Given the description of an element on the screen output the (x, y) to click on. 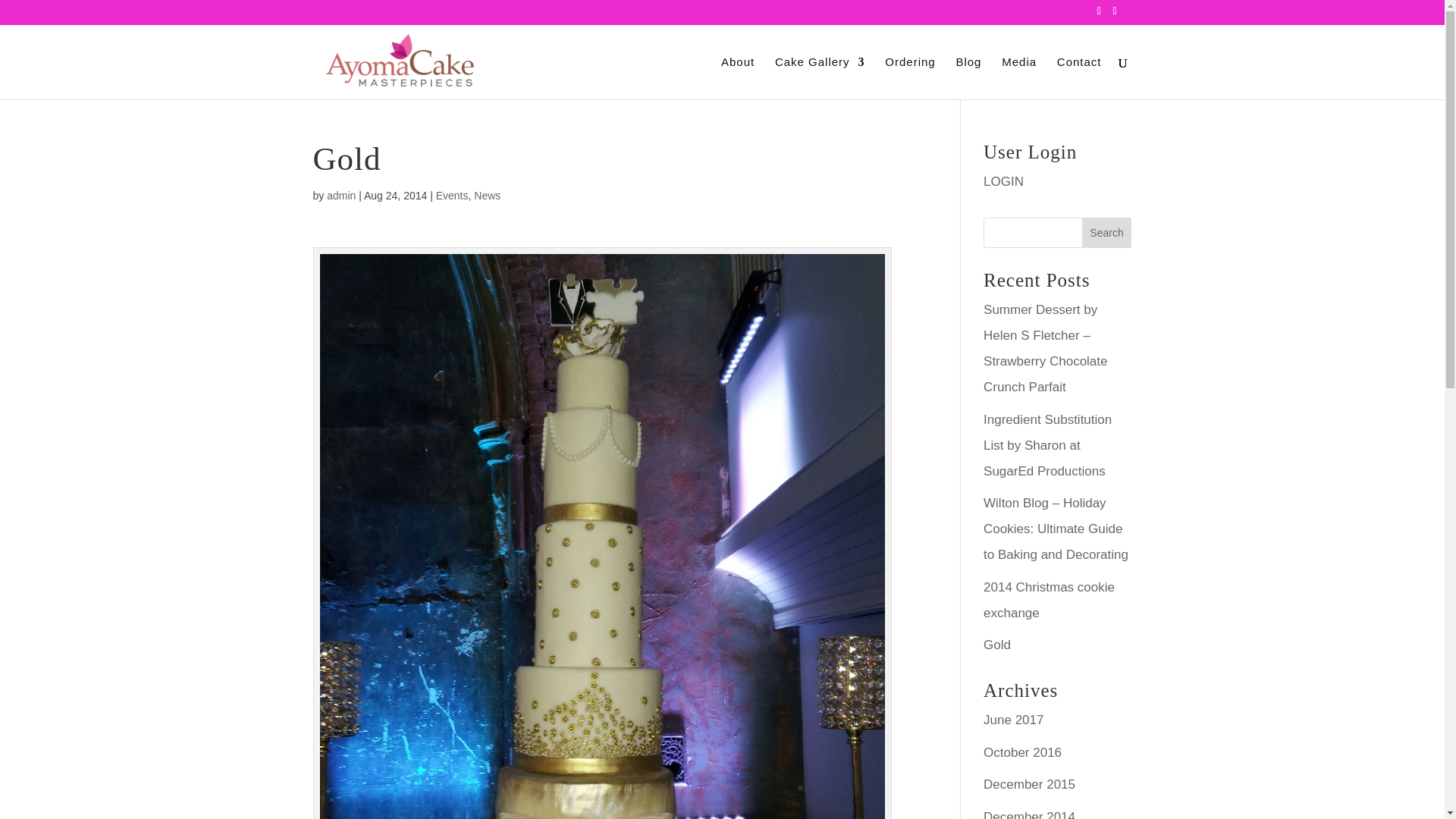
Cake Gallery (819, 77)
Search (1106, 232)
June 2017 (1013, 719)
Contact (1079, 77)
2014 Christmas cookie exchange (1049, 599)
Events (451, 195)
December 2014 (1029, 814)
admin (340, 195)
December 2015 (1029, 784)
